Given the description of an element on the screen output the (x, y) to click on. 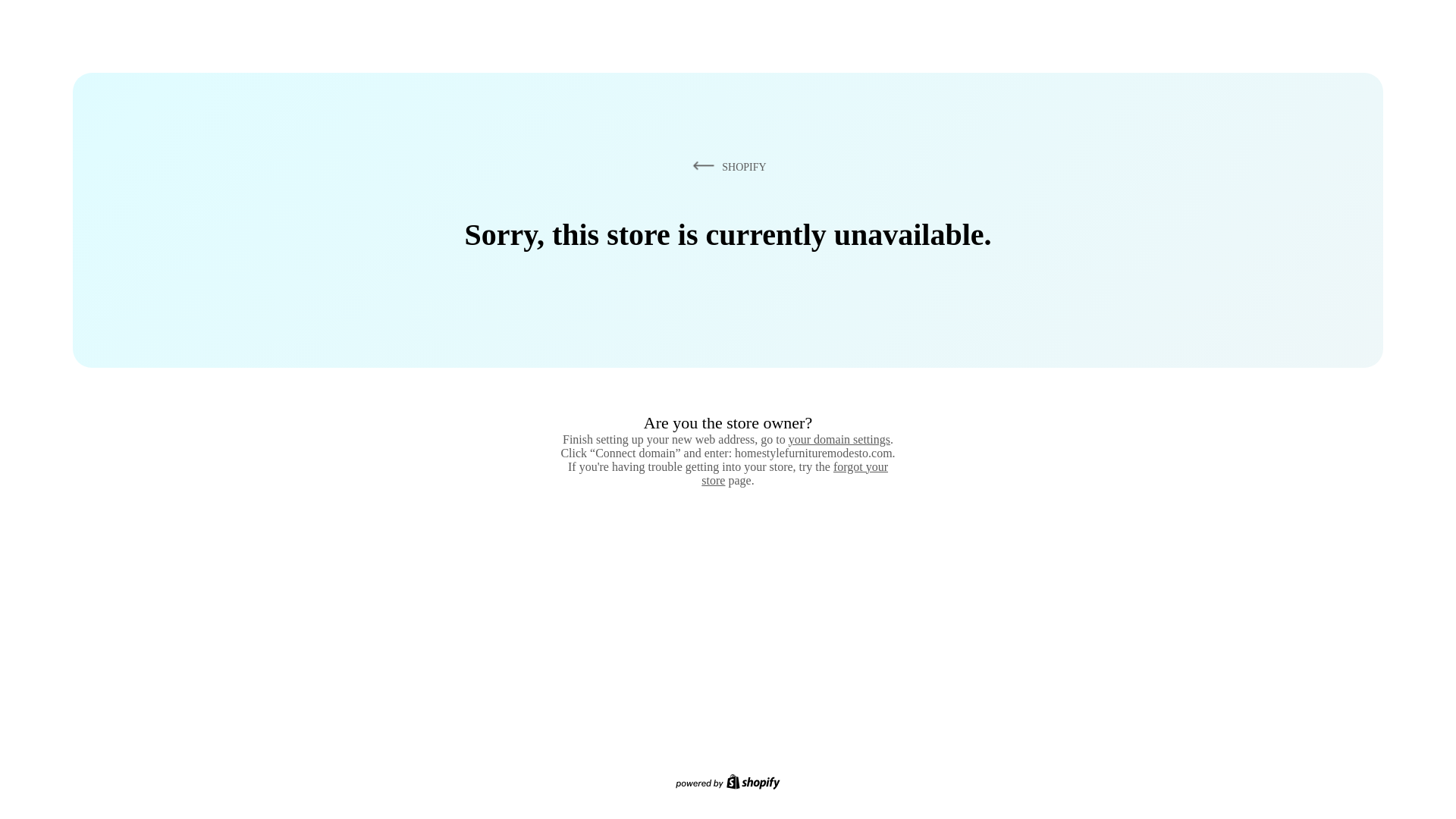
your domain settings (839, 439)
forgot your store (794, 473)
SHOPIFY (726, 166)
